Given the description of an element on the screen output the (x, y) to click on. 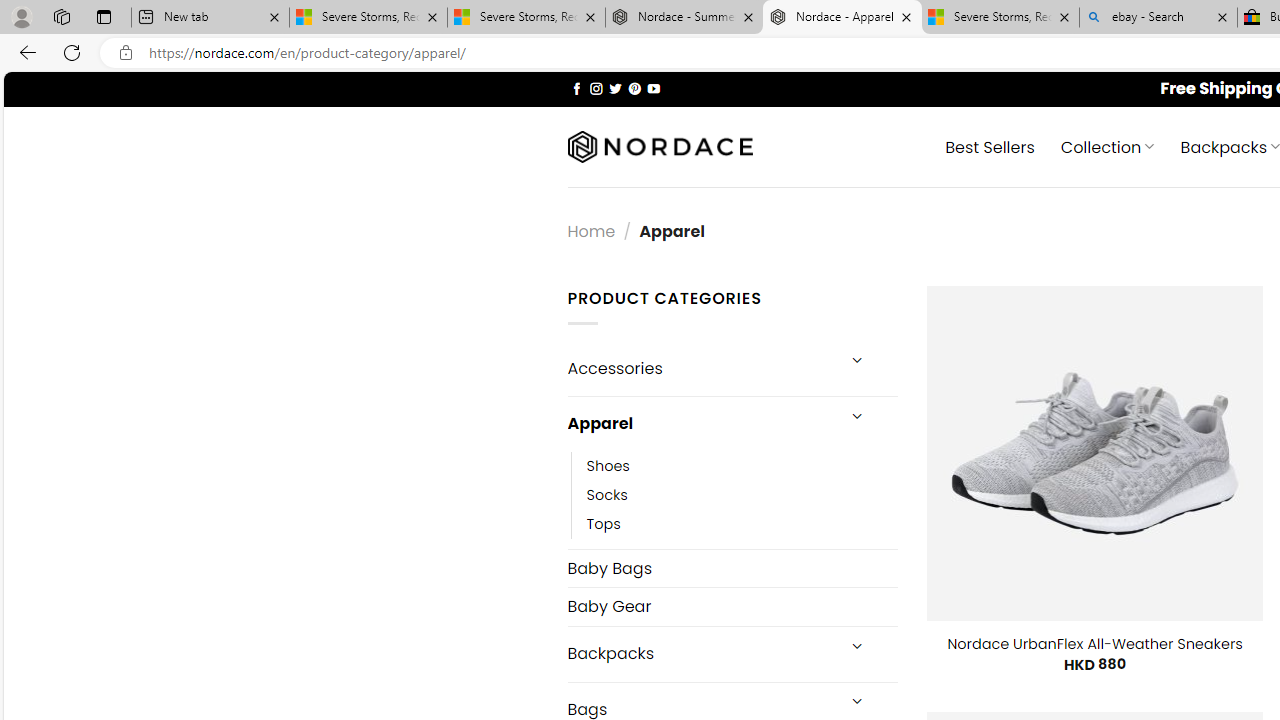
Nordace - Apparel (842, 17)
Baby Bags (732, 567)
Backpacks (700, 654)
